Given the description of an element on the screen output the (x, y) to click on. 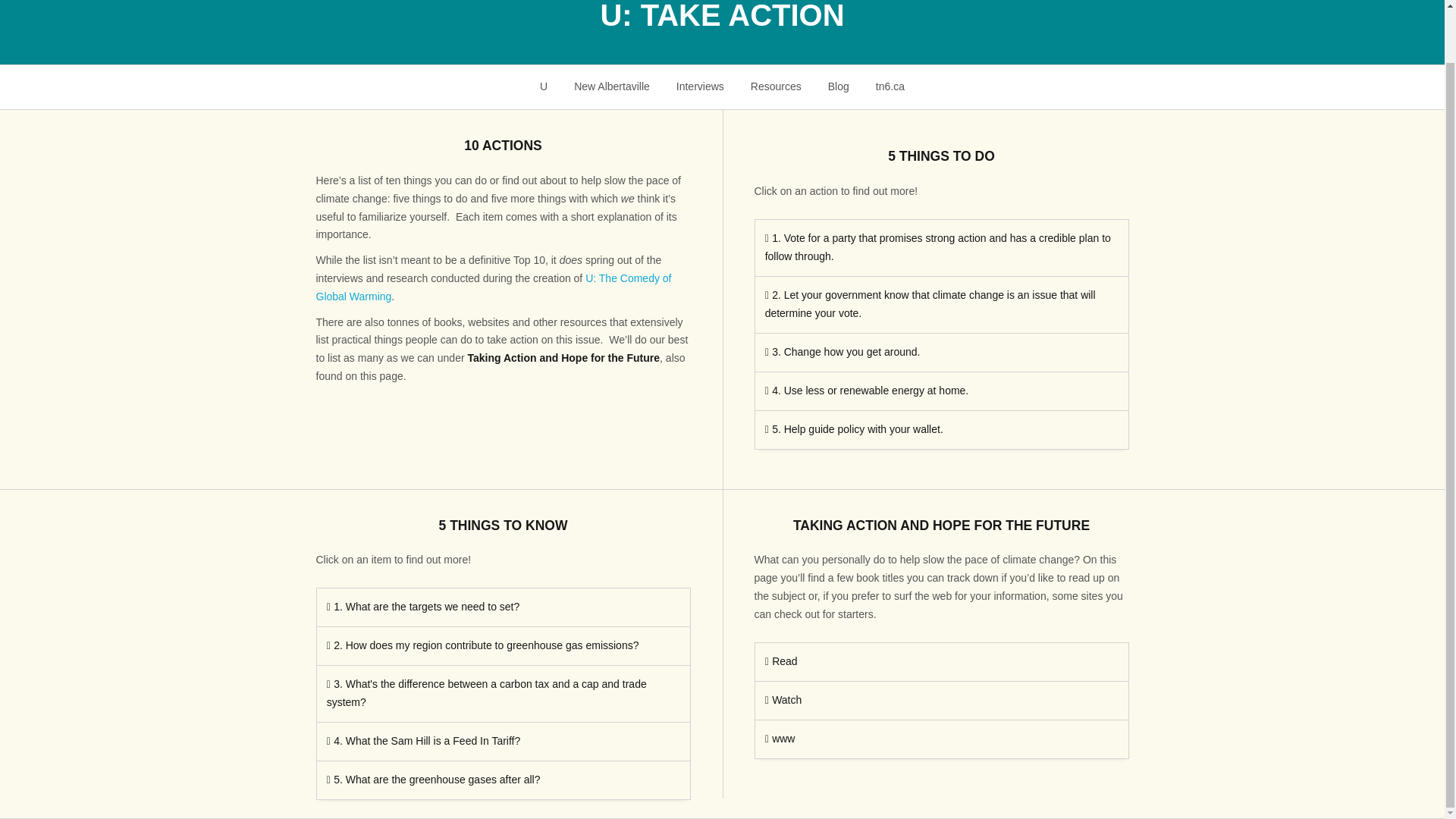
U: The Comedy of Global Warming (493, 286)
Interviews (699, 86)
Resources (774, 86)
Blog (837, 86)
tn6.ca (889, 86)
U (543, 86)
New Albertaville (611, 86)
